Given the description of an element on the screen output the (x, y) to click on. 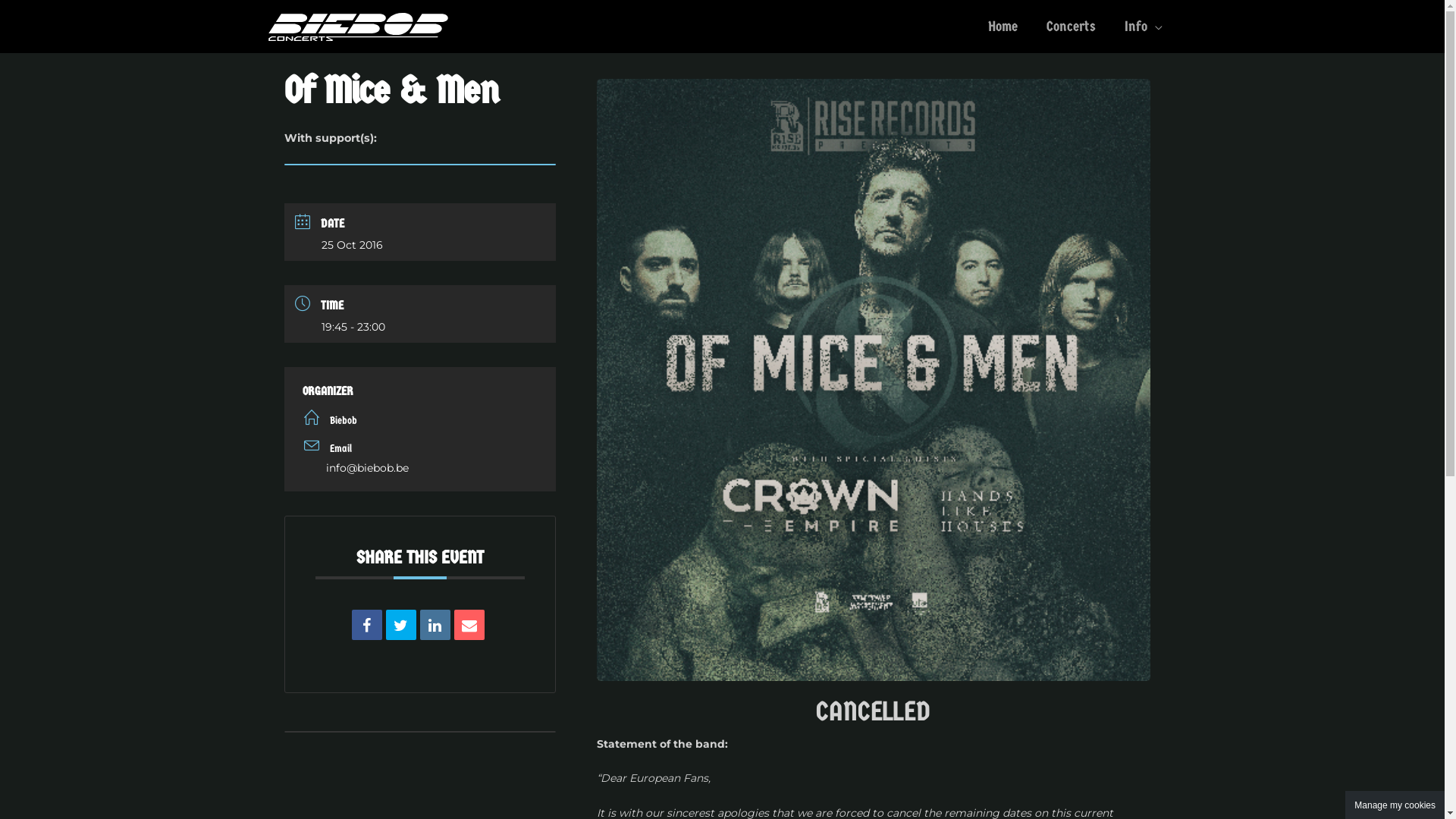
Linkedin Element type: hover (435, 624)
Tweet Element type: hover (400, 624)
Concerts Element type: text (1071, 26)
info@biebob.be Element type: text (419, 467)
Home Element type: text (1001, 26)
Info Element type: text (1143, 26)
Email Element type: hover (469, 624)
Share on Facebook Element type: hover (366, 624)
